Given the description of an element on the screen output the (x, y) to click on. 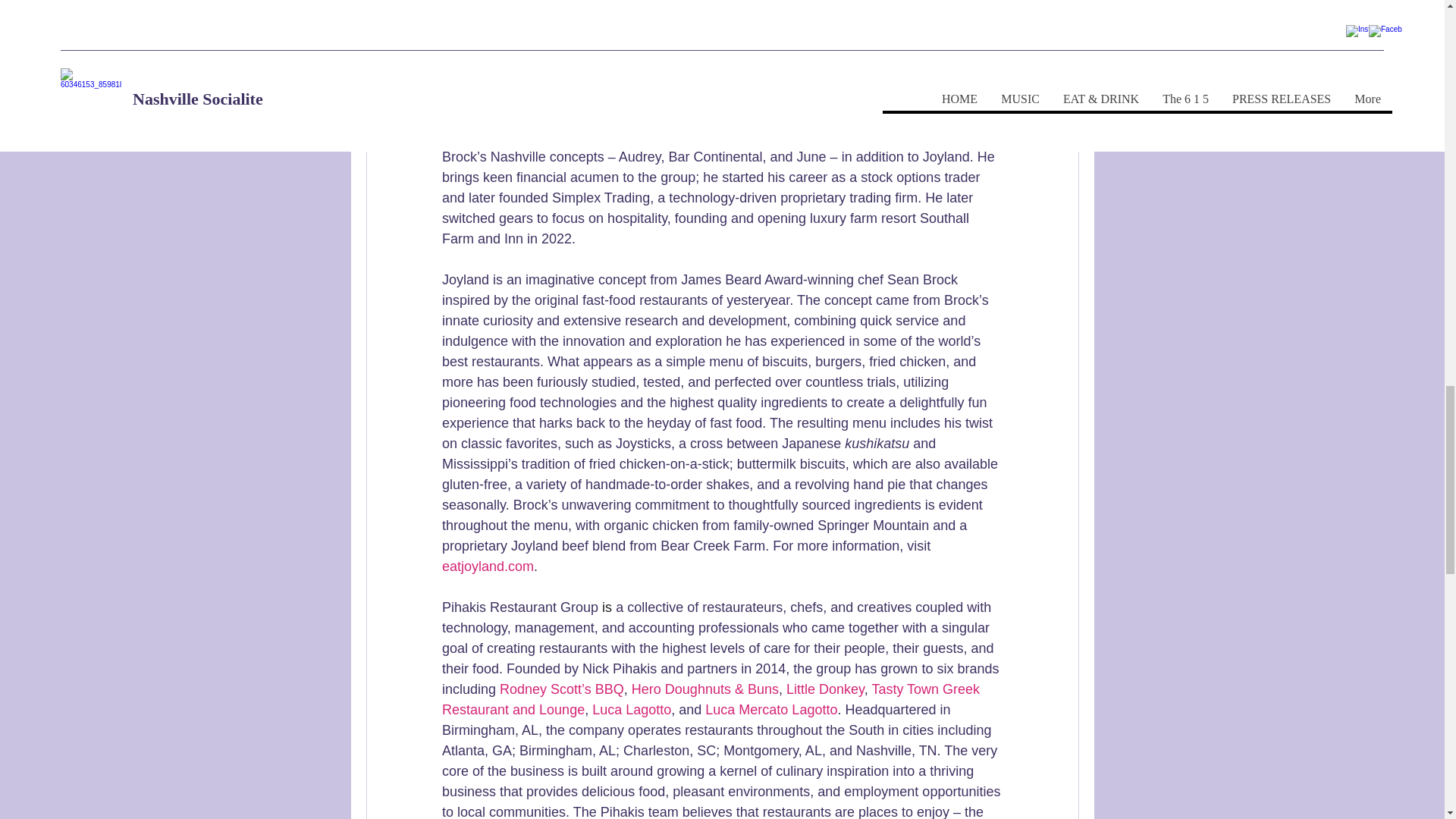
eatjoyland.com (486, 566)
Tasty Town Greek Restaurant and Lounge (711, 699)
Little Donkey (824, 688)
Luca Lagotto (631, 709)
Luca Mercato Lagotto (770, 709)
